Given the description of an element on the screen output the (x, y) to click on. 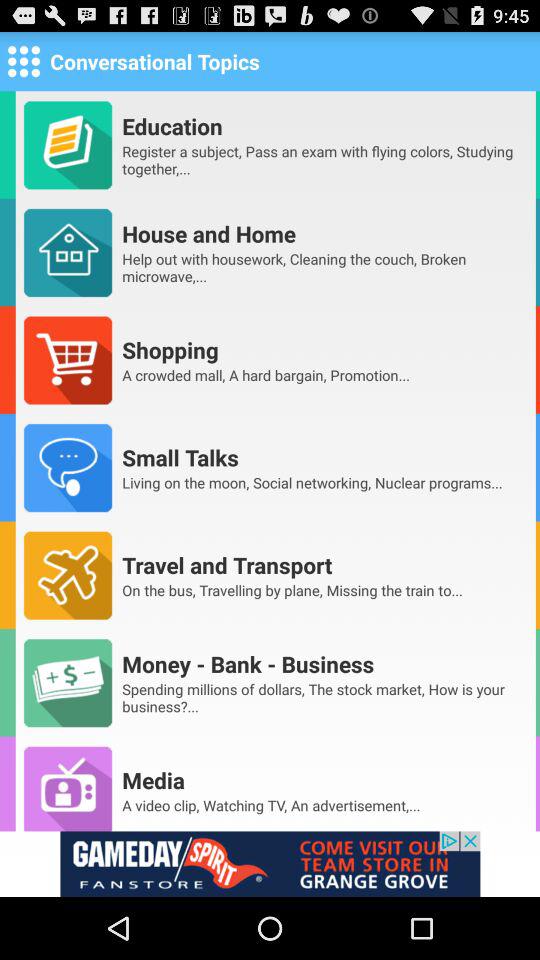
check options for page (23, 60)
